Given the description of an element on the screen output the (x, y) to click on. 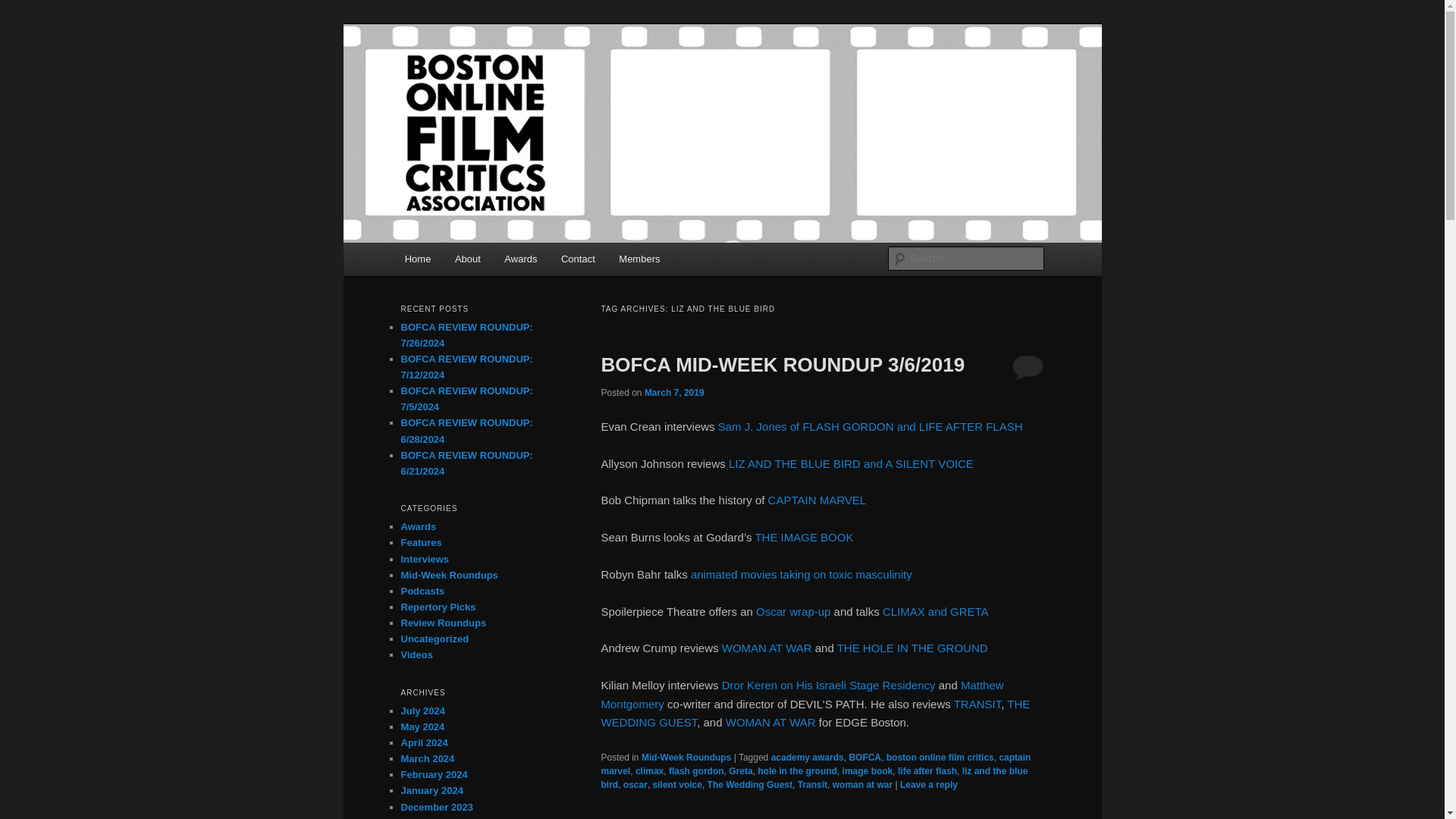
Boston Online Film Critics Association (610, 78)
Kilian Melloy's review of The Wedding Guest (814, 712)
Kilian Melloy's interview with Dror Keren (829, 684)
Kilian Melloy's interview with Matthew Montgomery (801, 694)
Kilian Melloy's review of Transit (977, 703)
Search (24, 8)
10:09 am (674, 391)
Kilian Melloy's review of Woman at War (770, 721)
Home (417, 258)
